Given the description of an element on the screen output the (x, y) to click on. 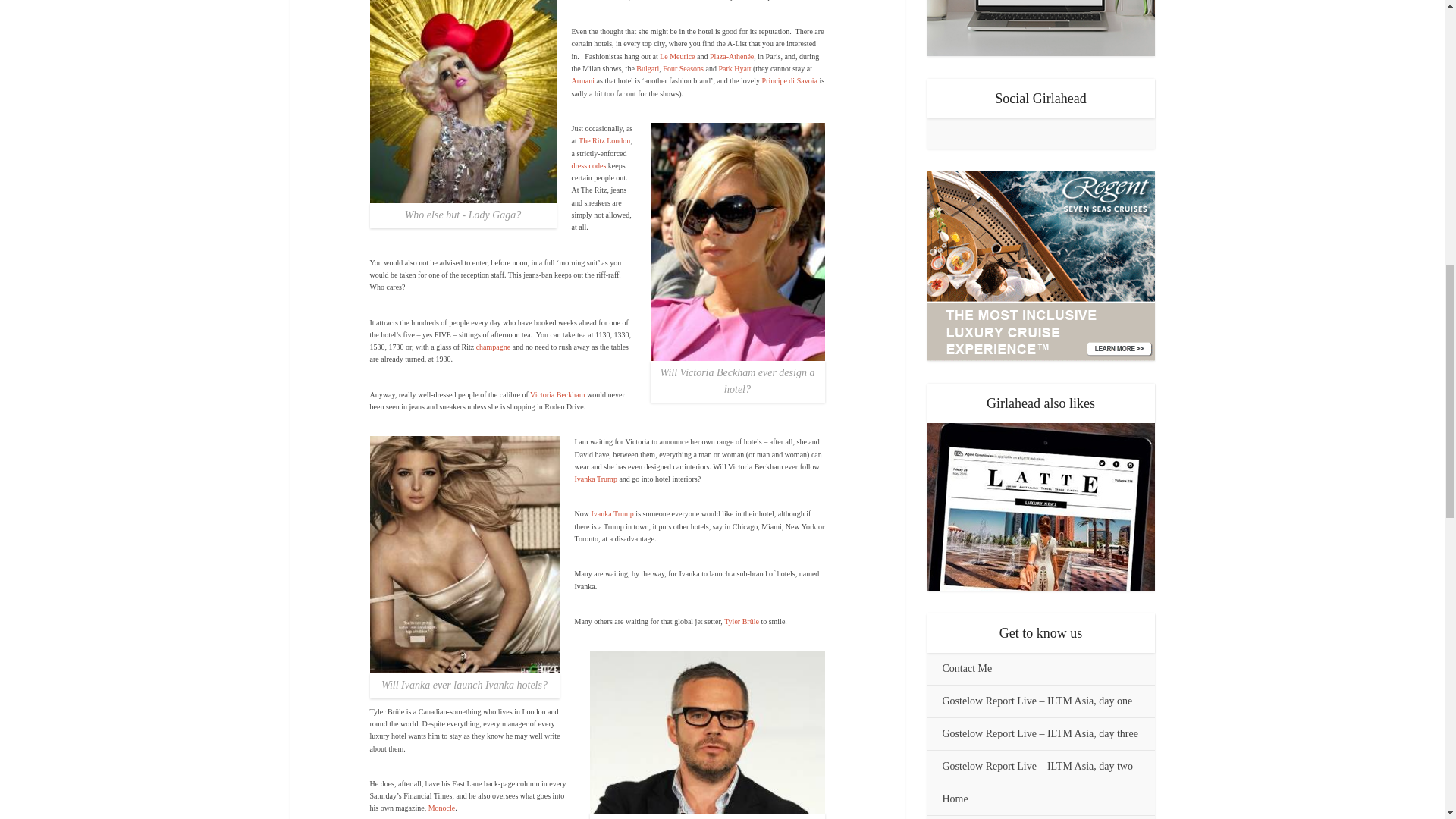
lady-gaga-NY (462, 101)
A sunken spa at the luxury Four Seasons Milano hotel (682, 68)
Love Life in Marrakech (732, 56)
Sweet things at a luxury hotel in Milan (734, 68)
Simply taste at the luxury Principe di Savoia hotel (788, 80)
Bodyism and the luxury Bulgari Hotel London (647, 68)
Armani does his second luxury hotel, at his Milan base (583, 80)
